Given the description of an element on the screen output the (x, y) to click on. 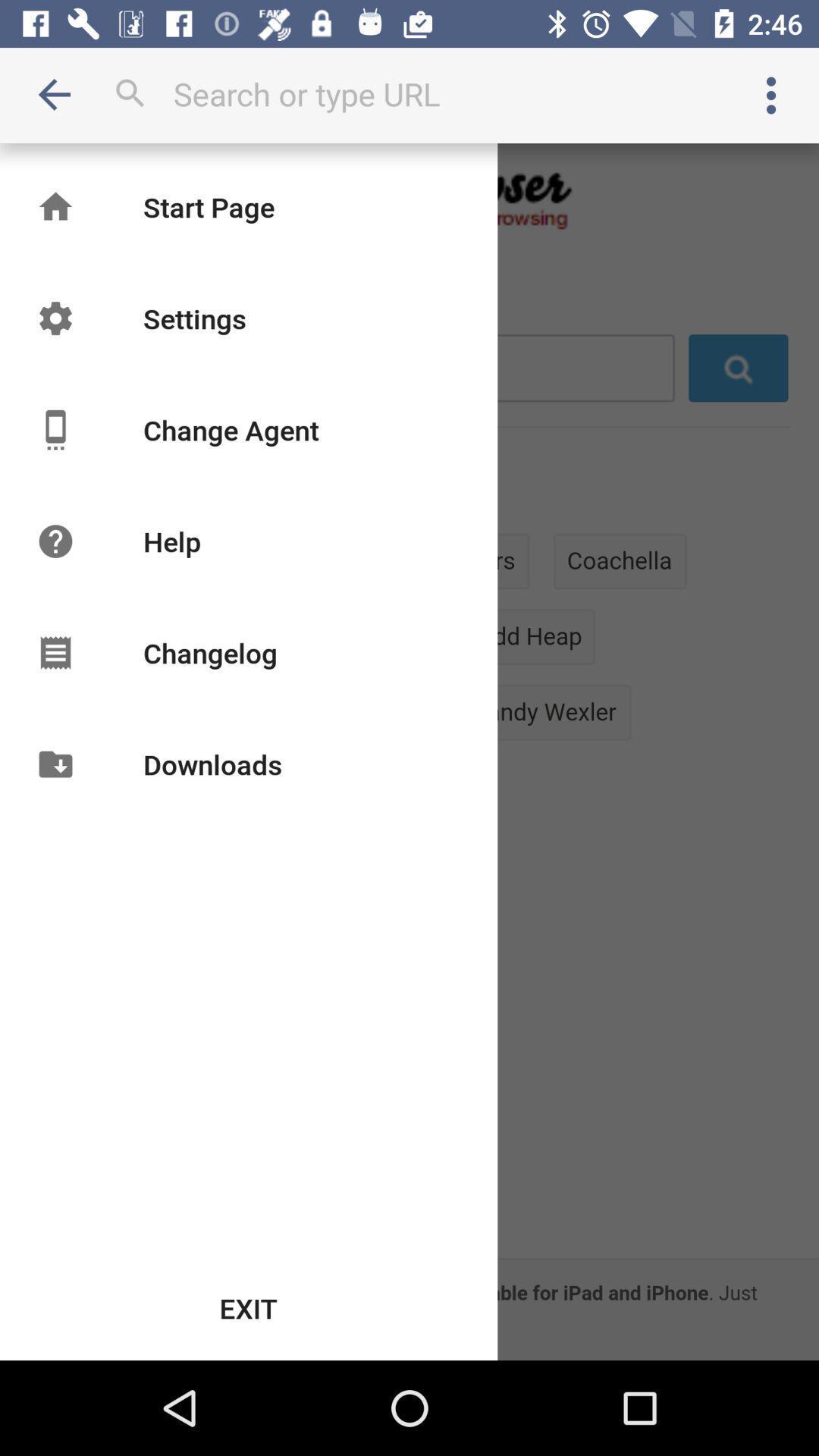
press item at the top right corner (771, 95)
